Given the description of an element on the screen output the (x, y) to click on. 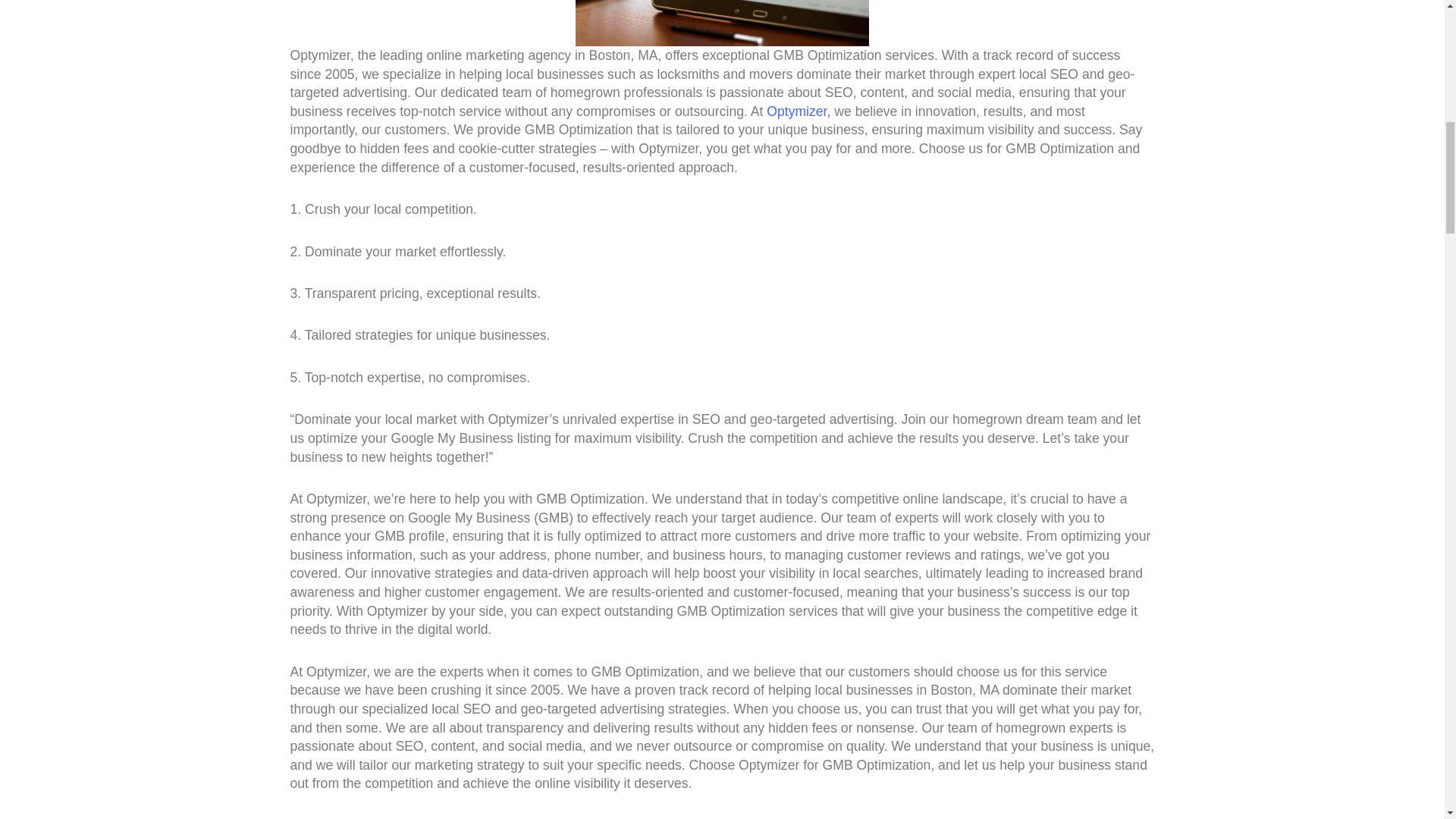
Optymizer (797, 111)
Optymizer (797, 111)
